Given the description of an element on the screen output the (x, y) to click on. 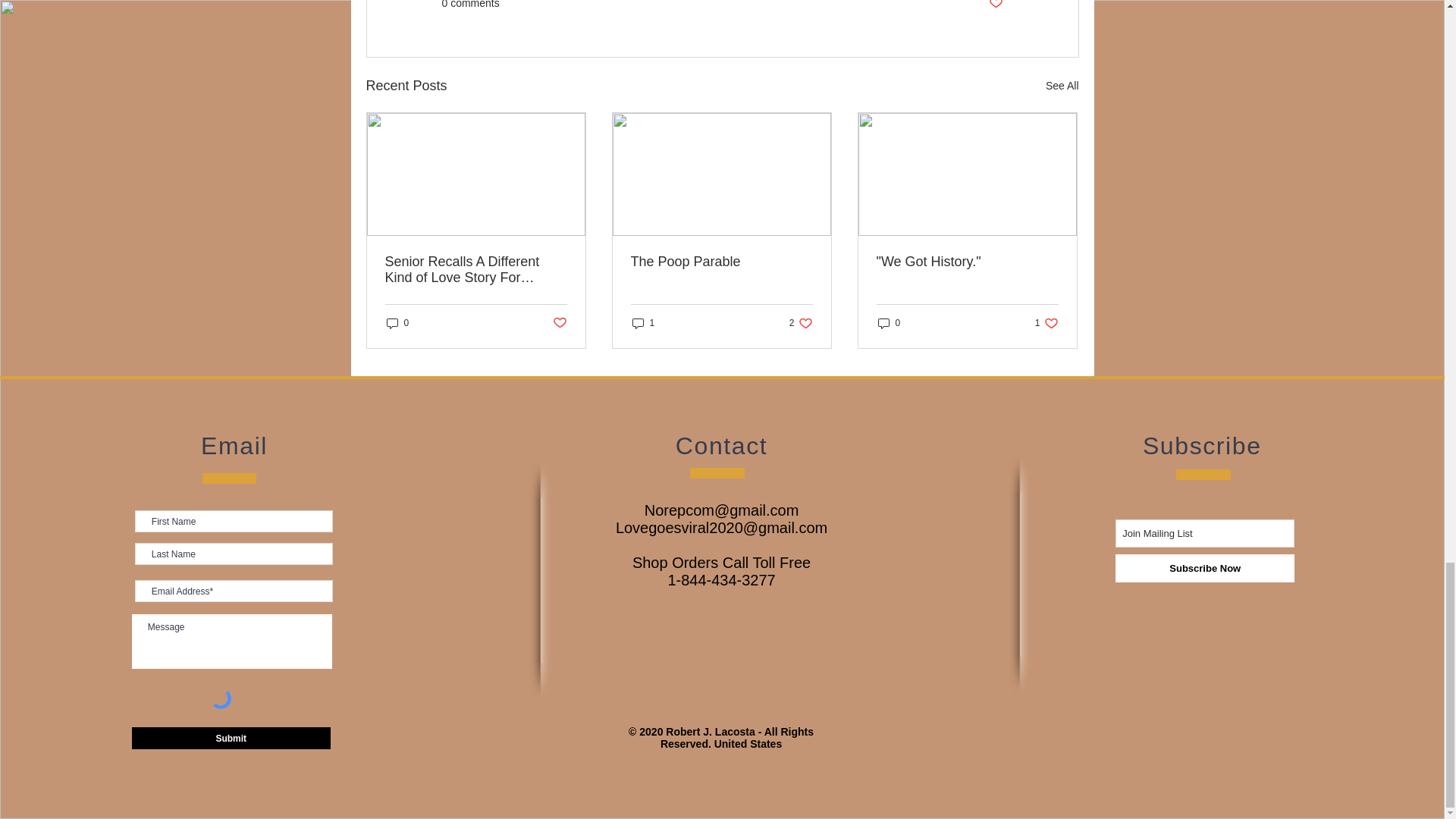
0 (397, 323)
1 (643, 323)
The Poop Parable (721, 261)
See All (1061, 86)
Post not marked as liked (558, 323)
Post not marked as liked (995, 5)
